Given the description of an element on the screen output the (x, y) to click on. 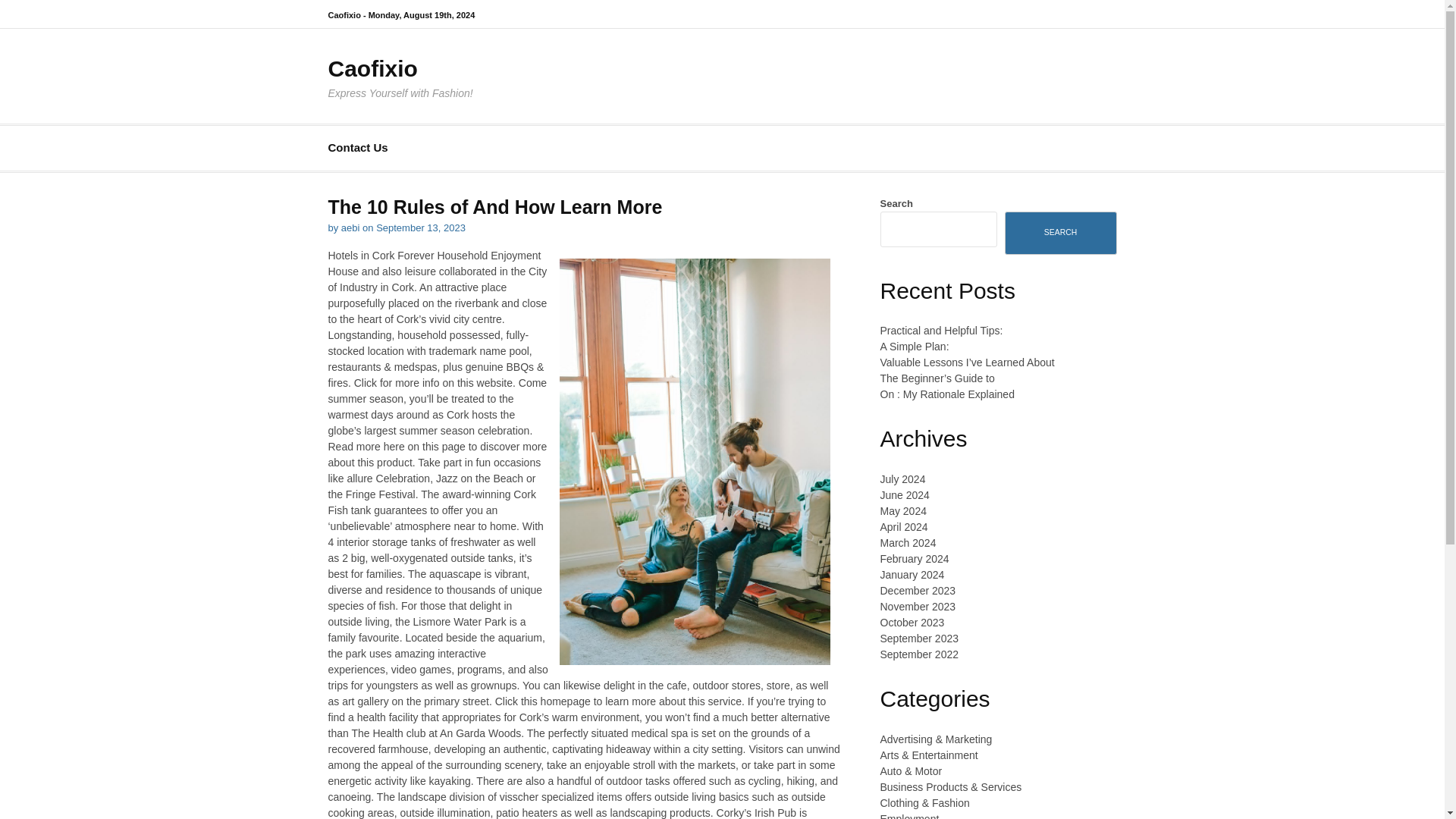
A Simple Plan: (914, 346)
September 2023 (918, 638)
Contact Us (357, 148)
July 2024 (901, 479)
December 2023 (917, 590)
November 2023 (917, 606)
aebi (349, 227)
On : My Rationale Explained (946, 394)
September 2022 (918, 654)
October 2023 (911, 622)
